Given the description of an element on the screen output the (x, y) to click on. 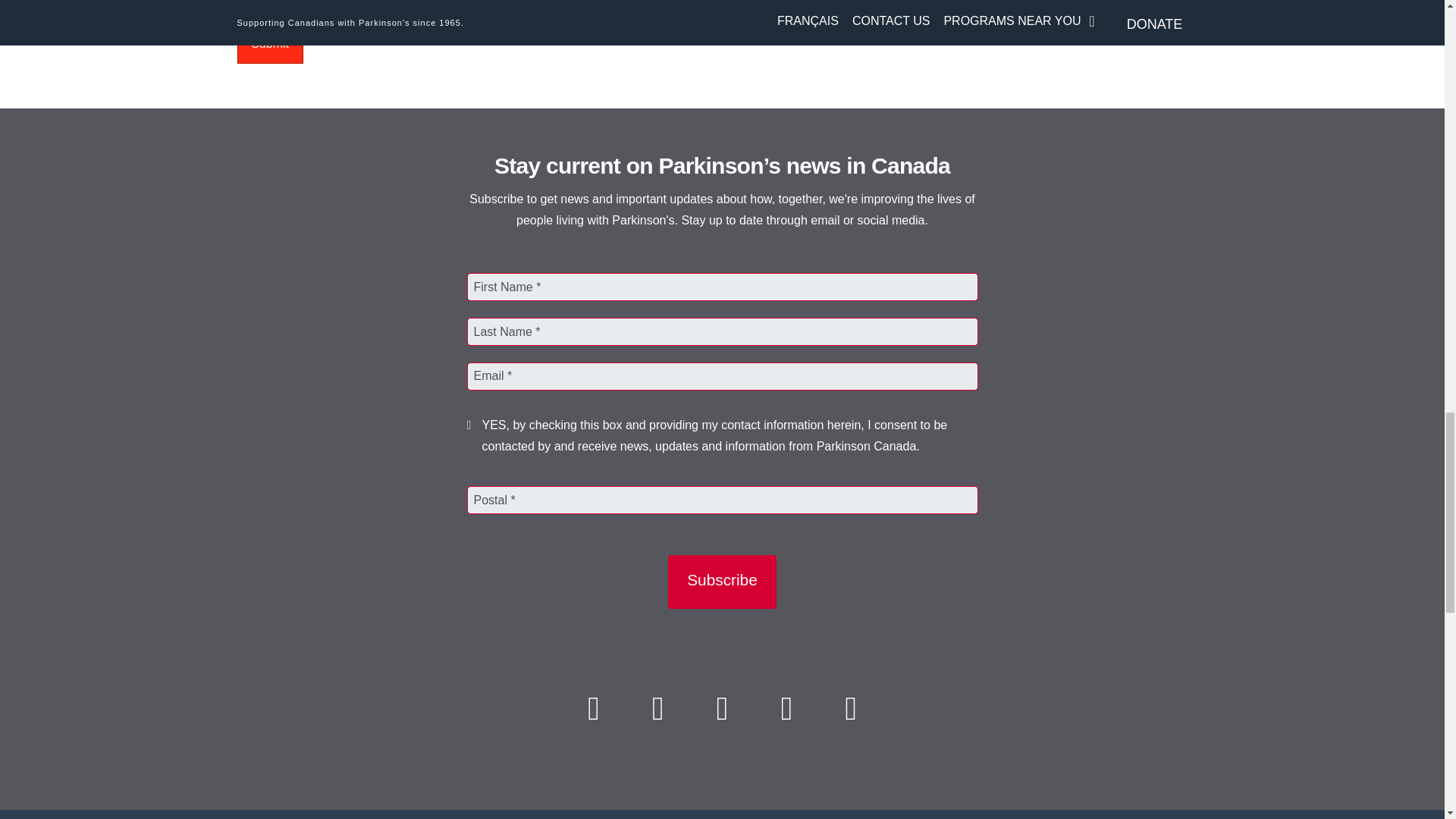
Facebook (593, 708)
LinkedIn (721, 708)
Submit (268, 45)
Twitter (657, 708)
YouTube (785, 708)
Instagram (851, 708)
